Given the description of an element on the screen output the (x, y) to click on. 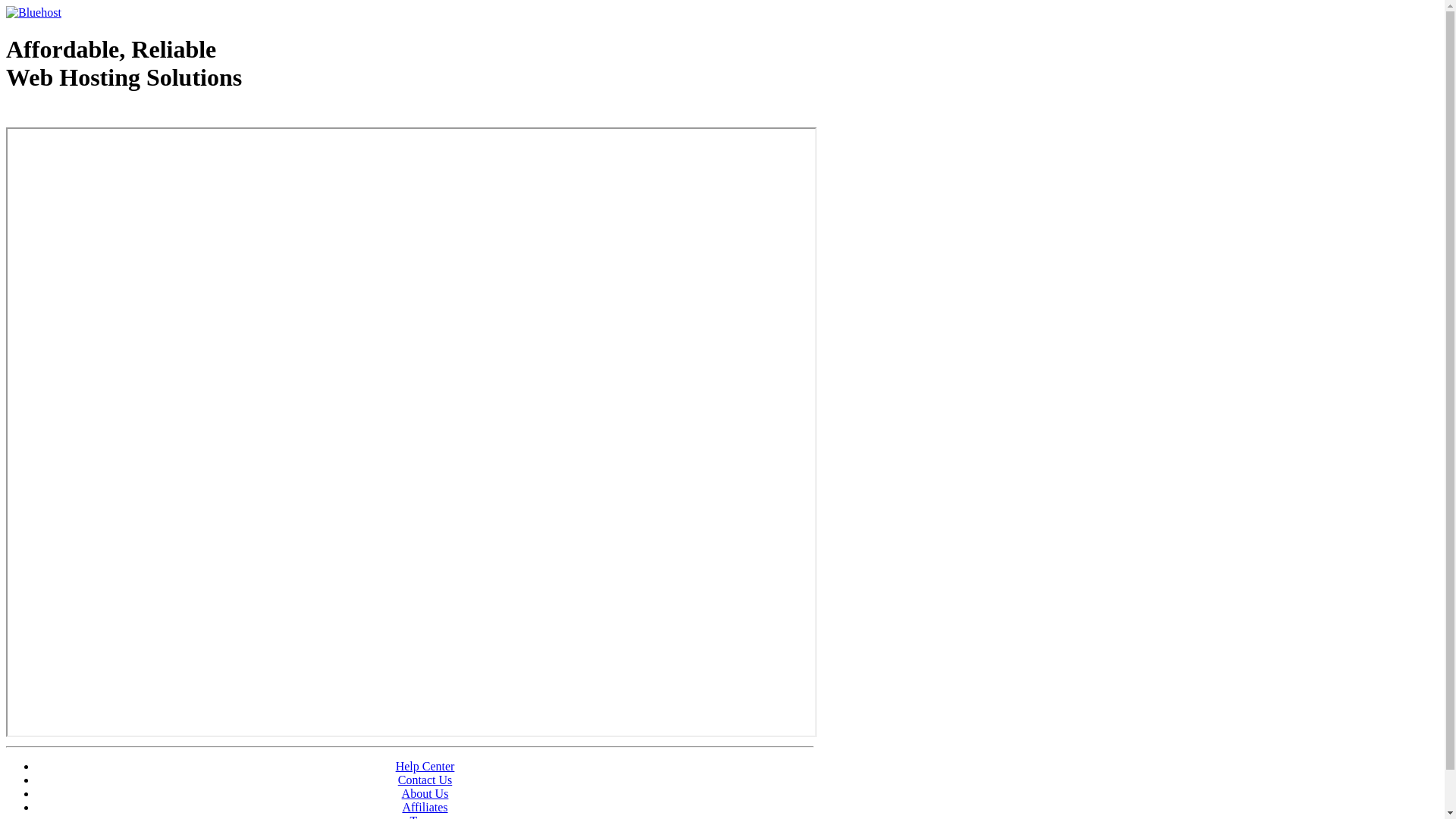
Affiliates Element type: text (424, 806)
Web Hosting - courtesy of www.bluehost.com Element type: text (94, 115)
About Us Element type: text (424, 793)
Help Center Element type: text (425, 765)
Contact Us Element type: text (425, 779)
